Given the description of an element on the screen output the (x, y) to click on. 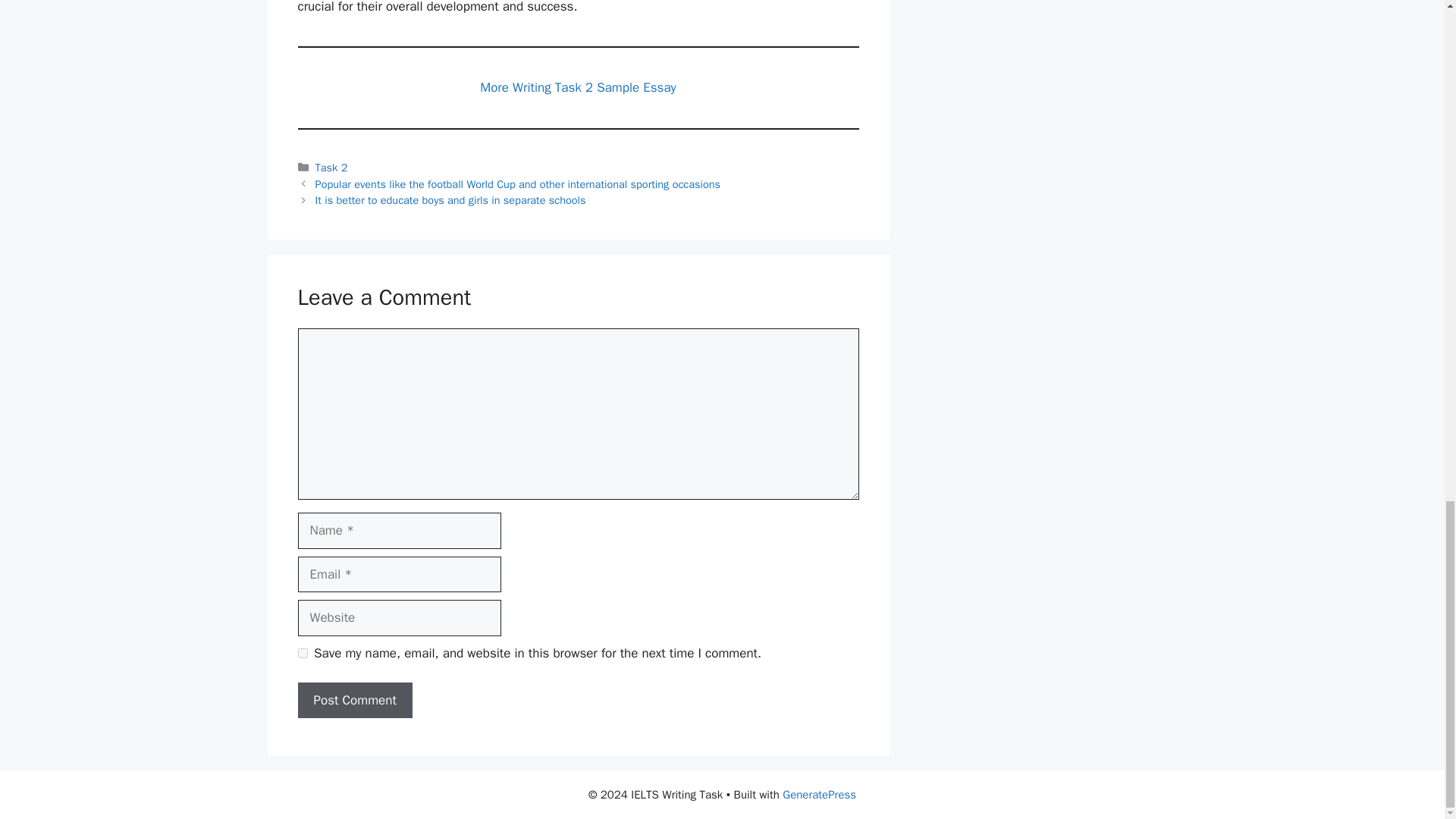
GeneratePress (819, 794)
yes (302, 653)
Post Comment (354, 700)
More Writing Task 2 Sample Essay (577, 87)
It is better to educate boys and girls in separate schools (450, 200)
Task 2 (331, 167)
Post Comment (354, 700)
